Given the description of an element on the screen output the (x, y) to click on. 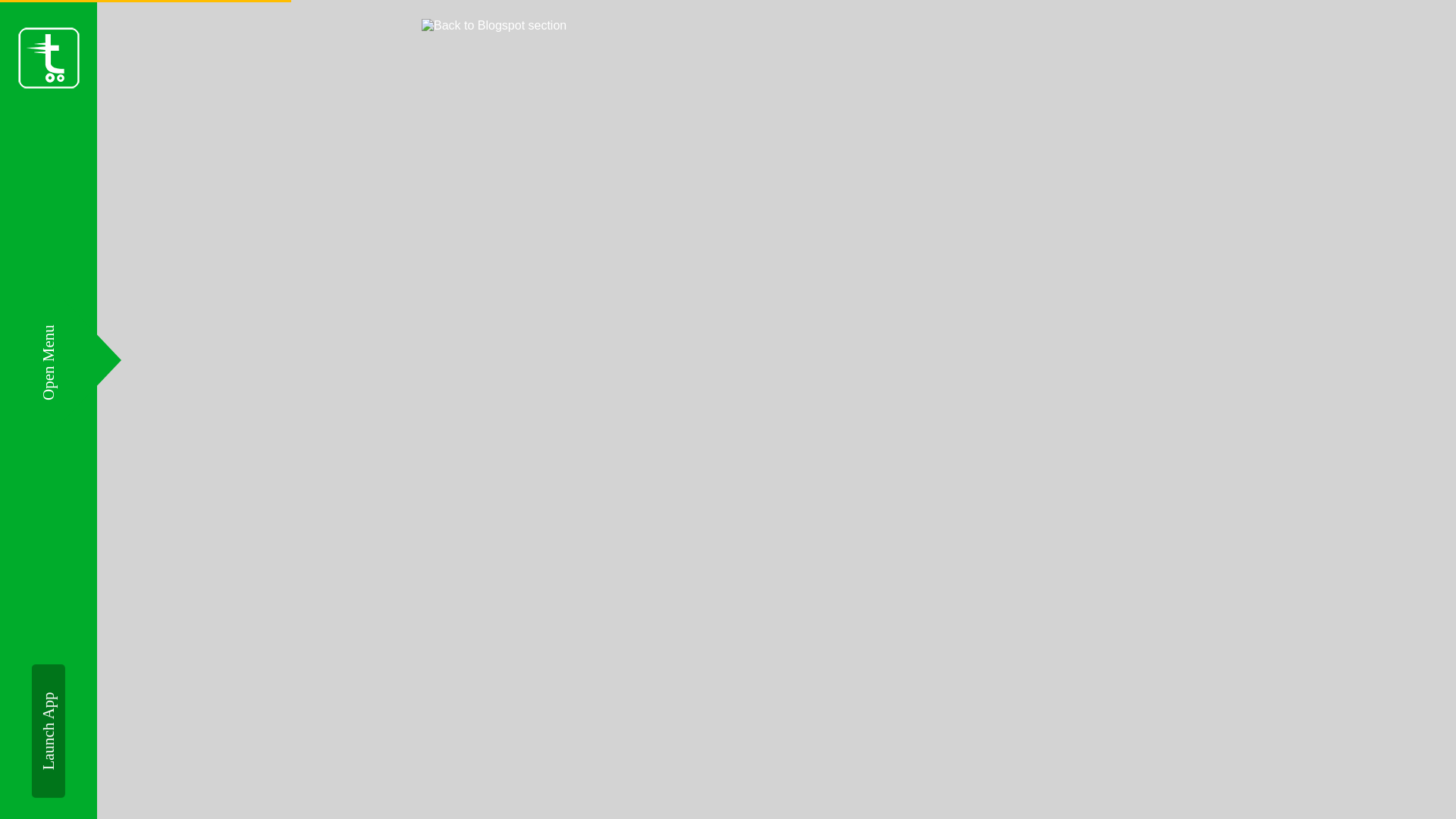
Open Menu (77, 333)
Launch App (98, 680)
